Given the description of an element on the screen output the (x, y) to click on. 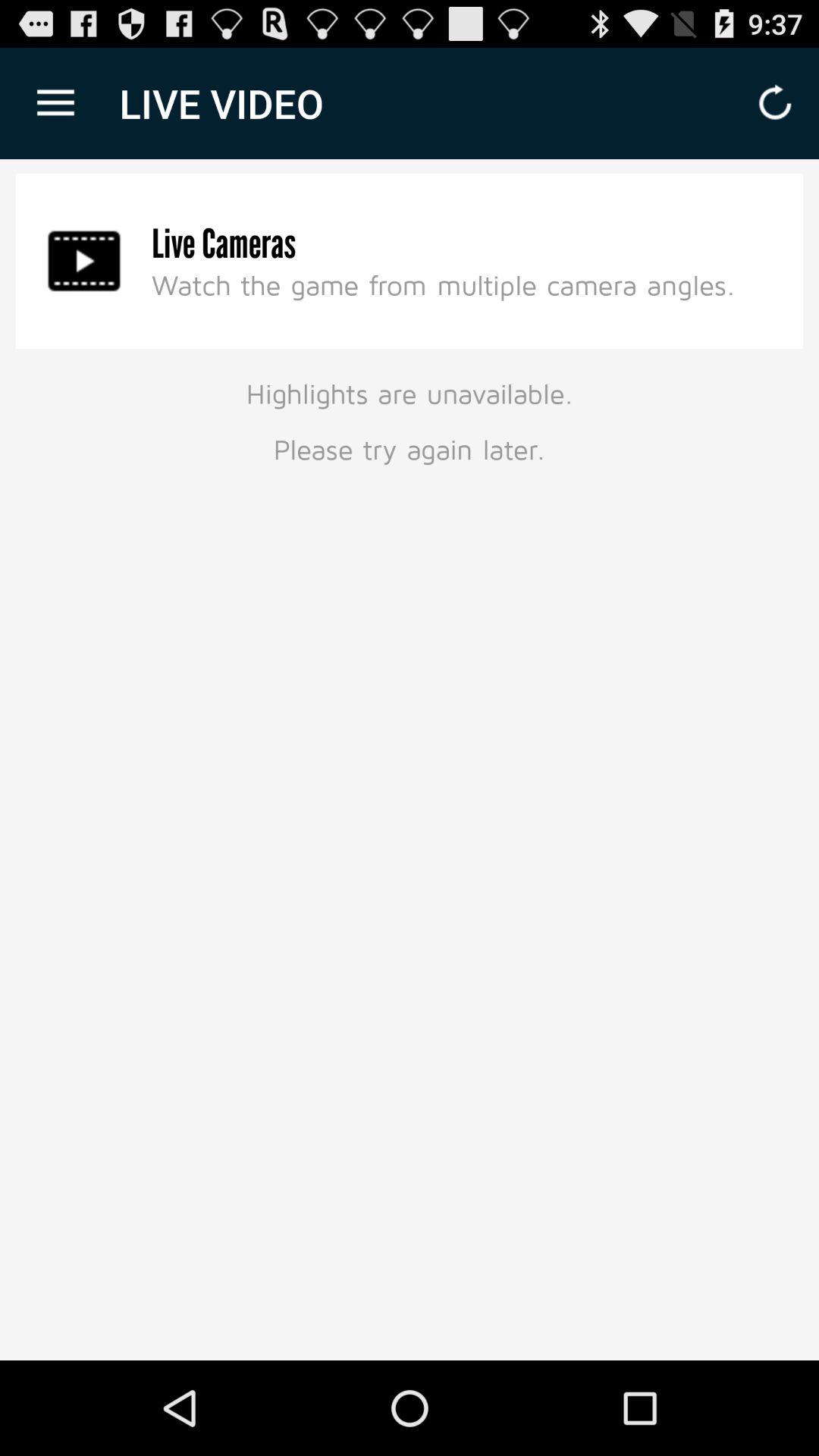
select icon to the left of the live video app (55, 103)
